Given the description of an element on the screen output the (x, y) to click on. 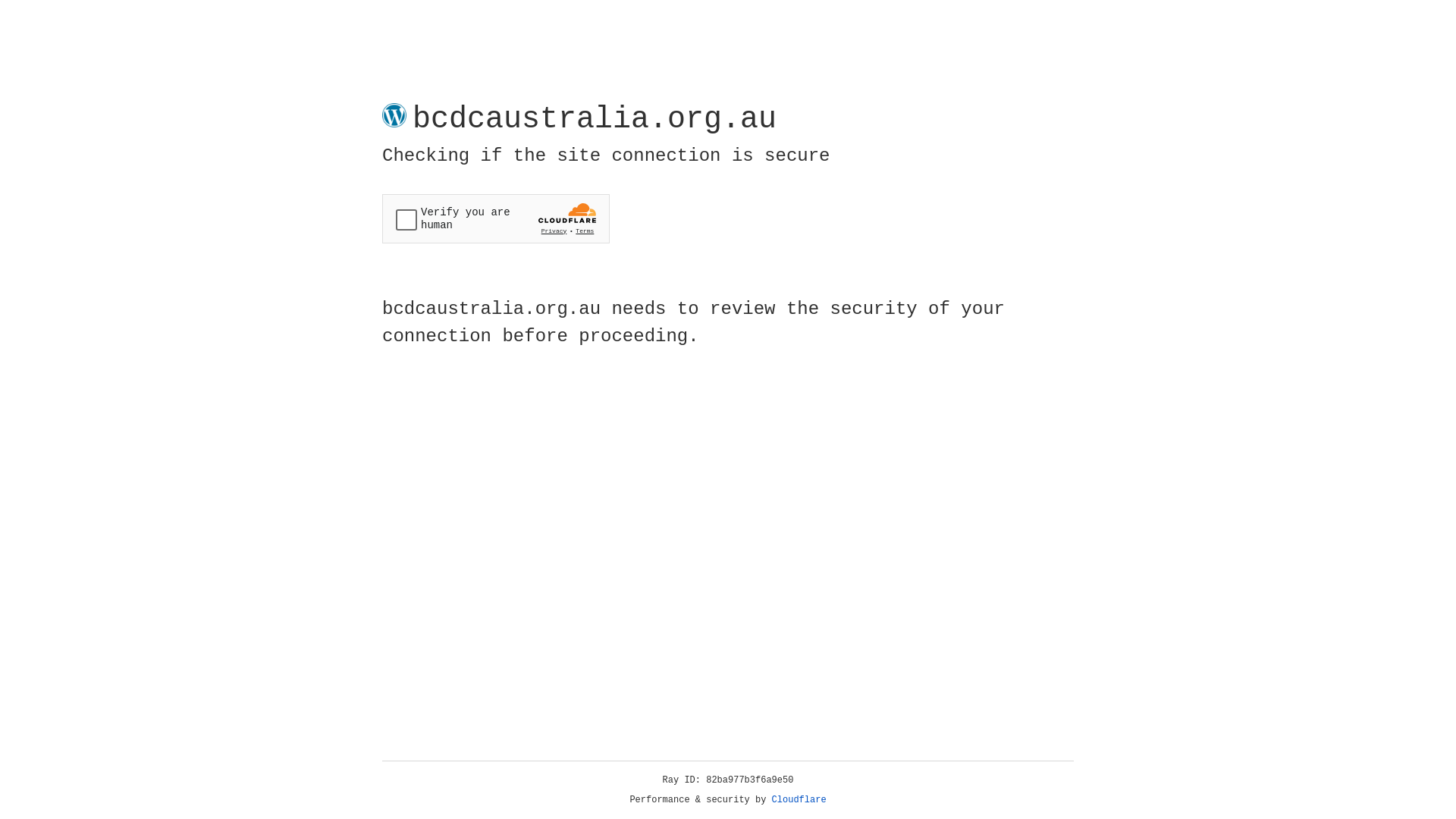
Widget containing a Cloudflare security challenge Element type: hover (495, 218)
Cloudflare Element type: text (798, 799)
